Given the description of an element on the screen output the (x, y) to click on. 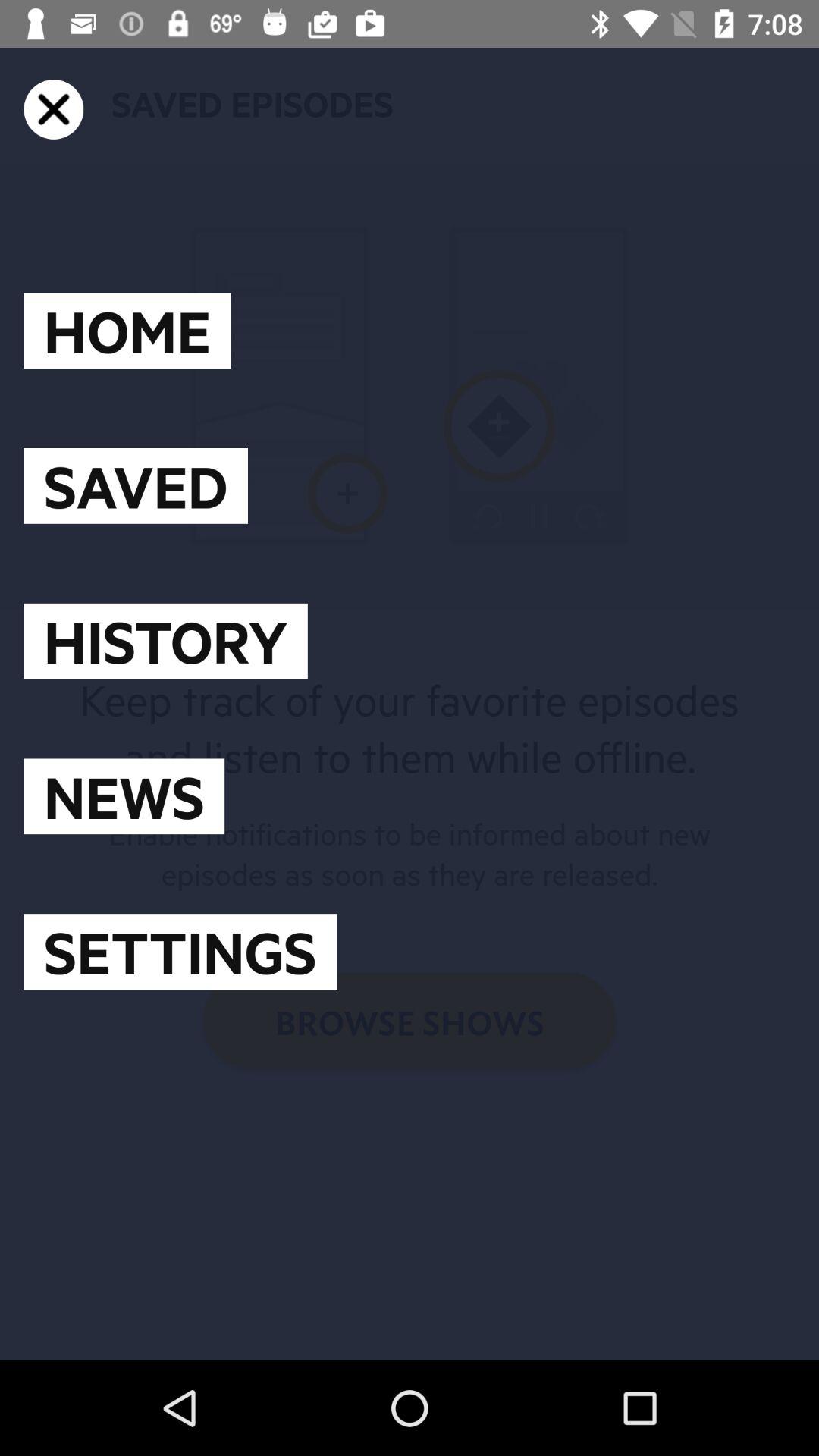
swipe until home (126, 330)
